Given the description of an element on the screen output the (x, y) to click on. 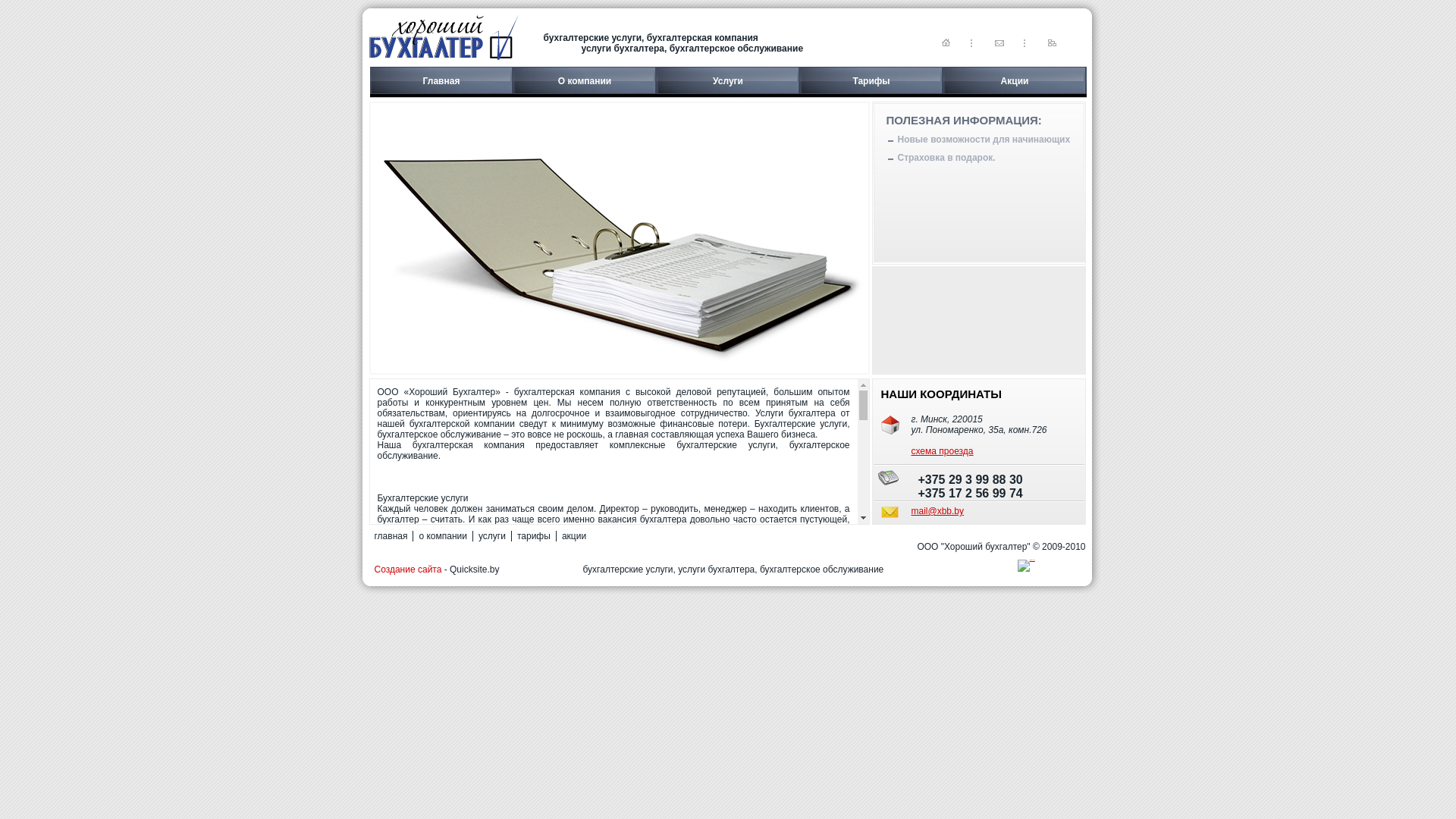
mail@xbb.by Element type: text (937, 510)
